Given the description of an element on the screen output the (x, y) to click on. 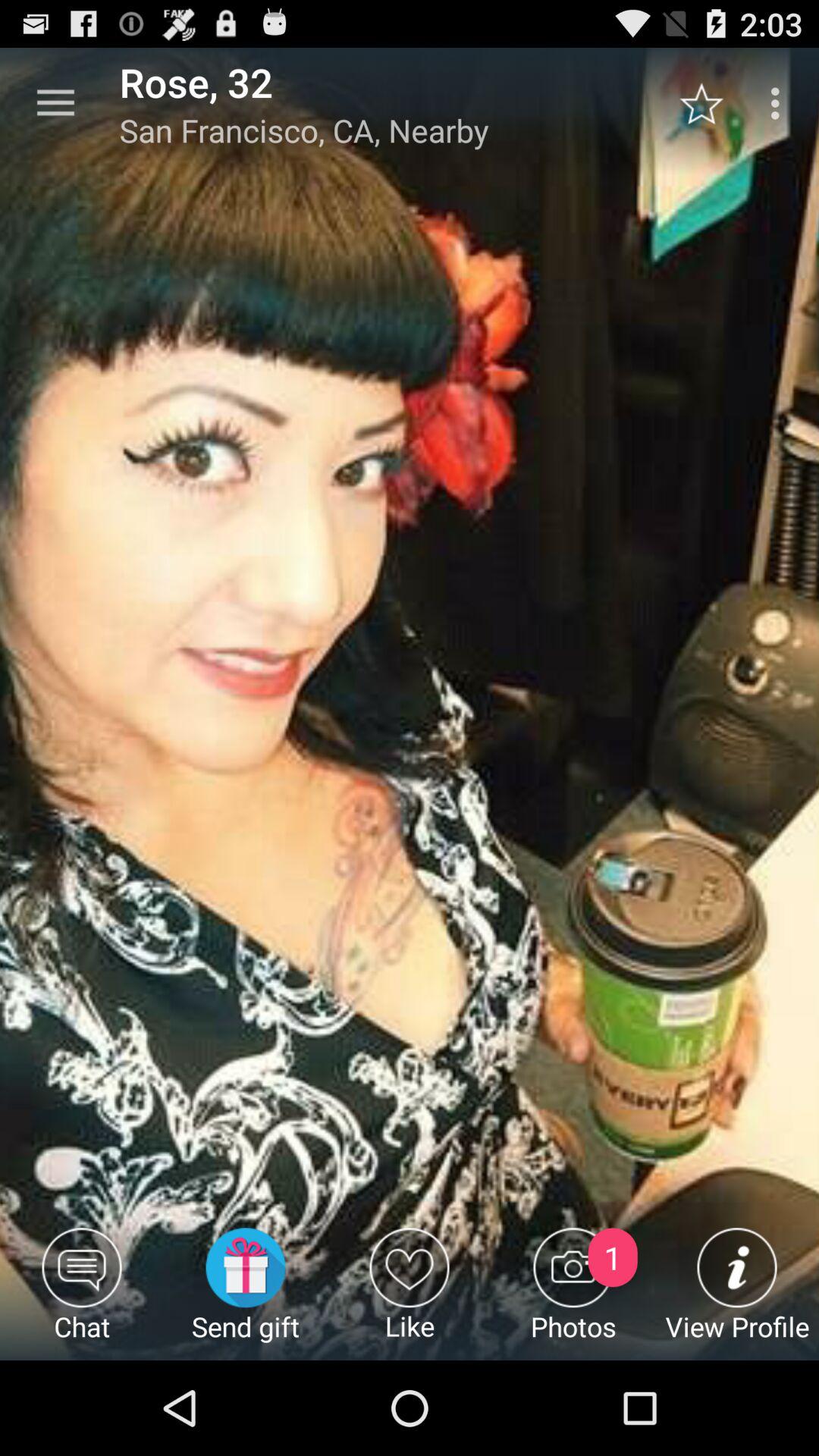
press item above chat (55, 103)
